Given the description of an element on the screen output the (x, y) to click on. 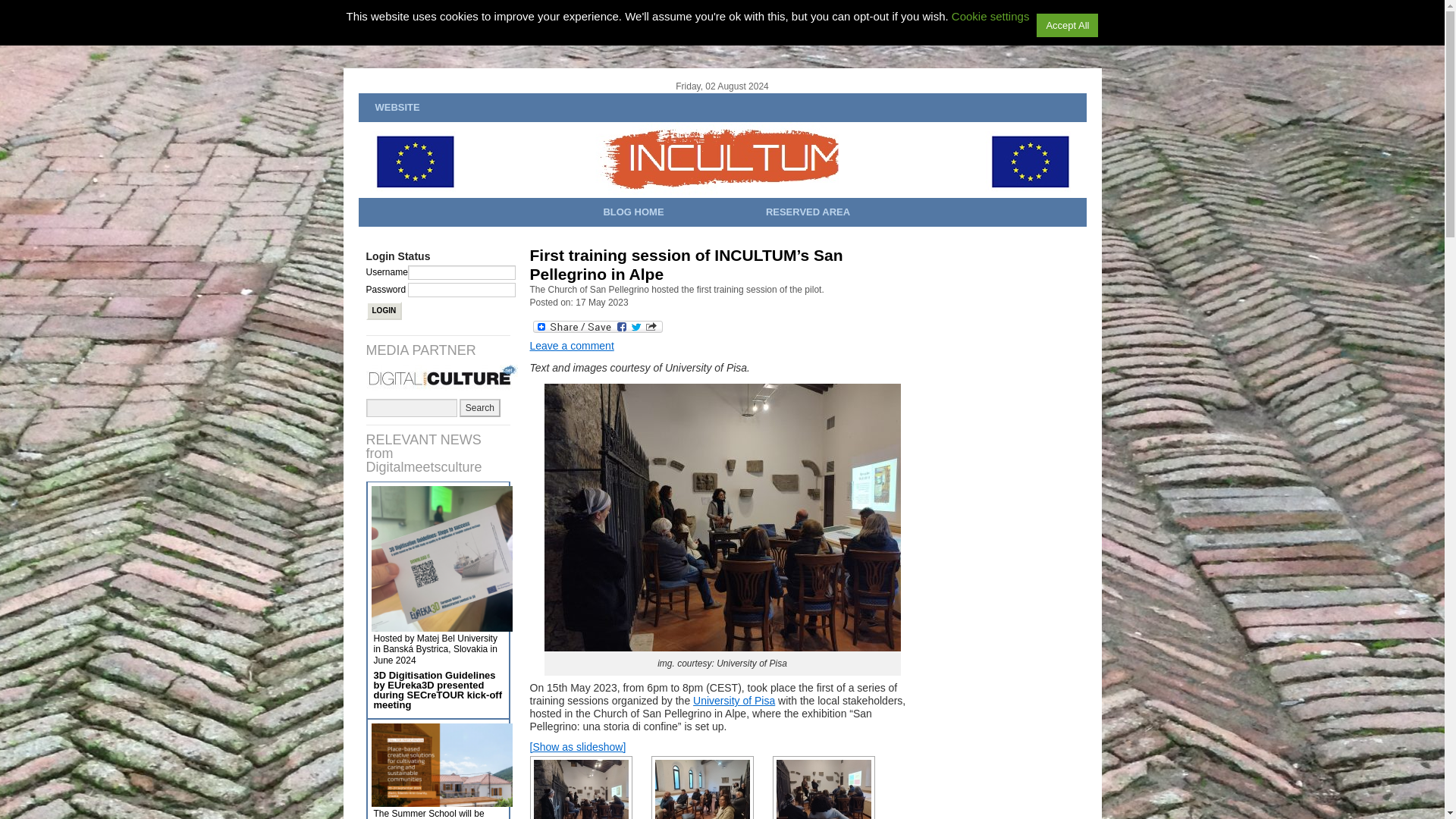
login (383, 311)
WEBSITE (396, 107)
Search (480, 407)
5 (823, 787)
4 (701, 787)
2 (580, 787)
Cookie settings (990, 15)
BLOG HOME (633, 212)
RESERVED AREA (807, 212)
login (383, 311)
Leave a comment (570, 345)
Search (480, 407)
